Given the description of an element on the screen output the (x, y) to click on. 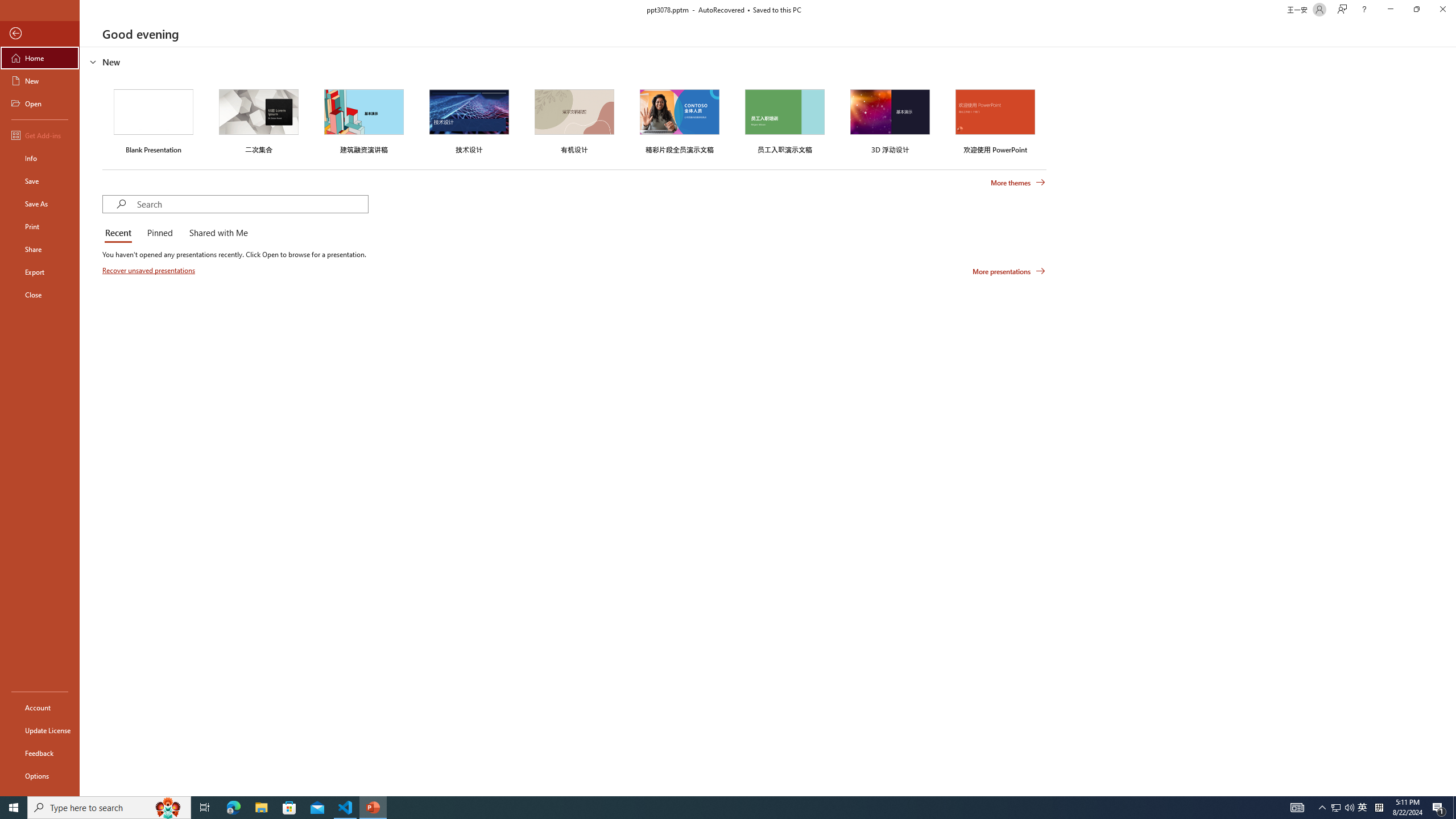
Info (40, 157)
More presentations (1008, 270)
Blank Presentation (153, 119)
Recover unsaved presentations (149, 270)
More themes (1018, 182)
Pinned (159, 233)
New (40, 80)
Save As (40, 203)
Back (40, 33)
